Given the description of an element on the screen output the (x, y) to click on. 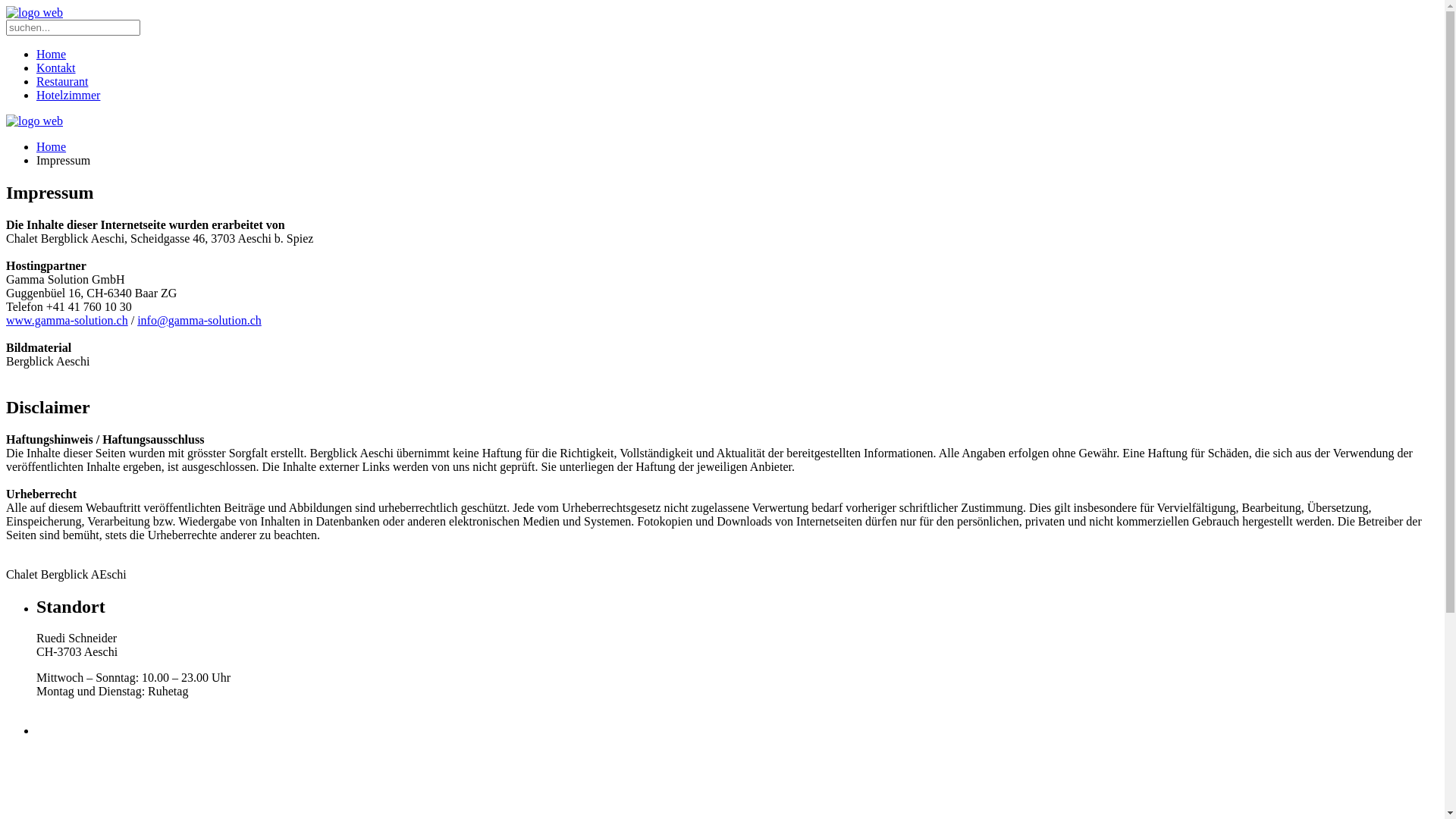
www.gamma-solution.ch Element type: text (67, 319)
Hotelzimmer Element type: text (68, 94)
Restaurant Element type: text (61, 81)
info@gamma-solution.ch Element type: text (199, 319)
Home Element type: text (50, 146)
Home Element type: text (50, 53)
Kontakt Element type: text (55, 67)
